Given the description of an element on the screen output the (x, y) to click on. 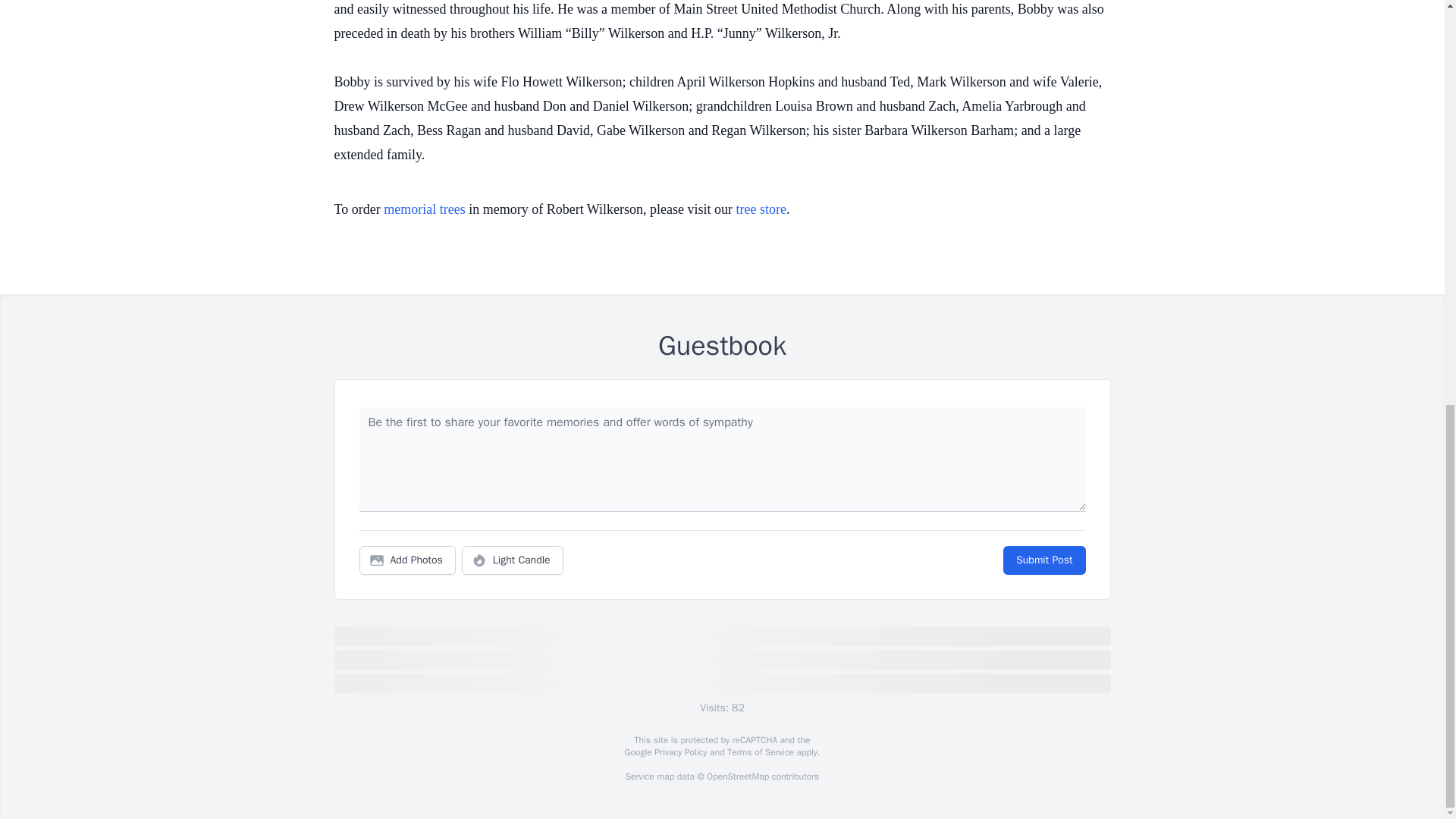
OpenStreetMap (737, 776)
Add Photos (407, 560)
Privacy Policy (679, 752)
Terms of Service (759, 752)
Submit Post (1043, 560)
tree store (761, 209)
Light Candle (512, 560)
memorial trees (424, 209)
